Given the description of an element on the screen output the (x, y) to click on. 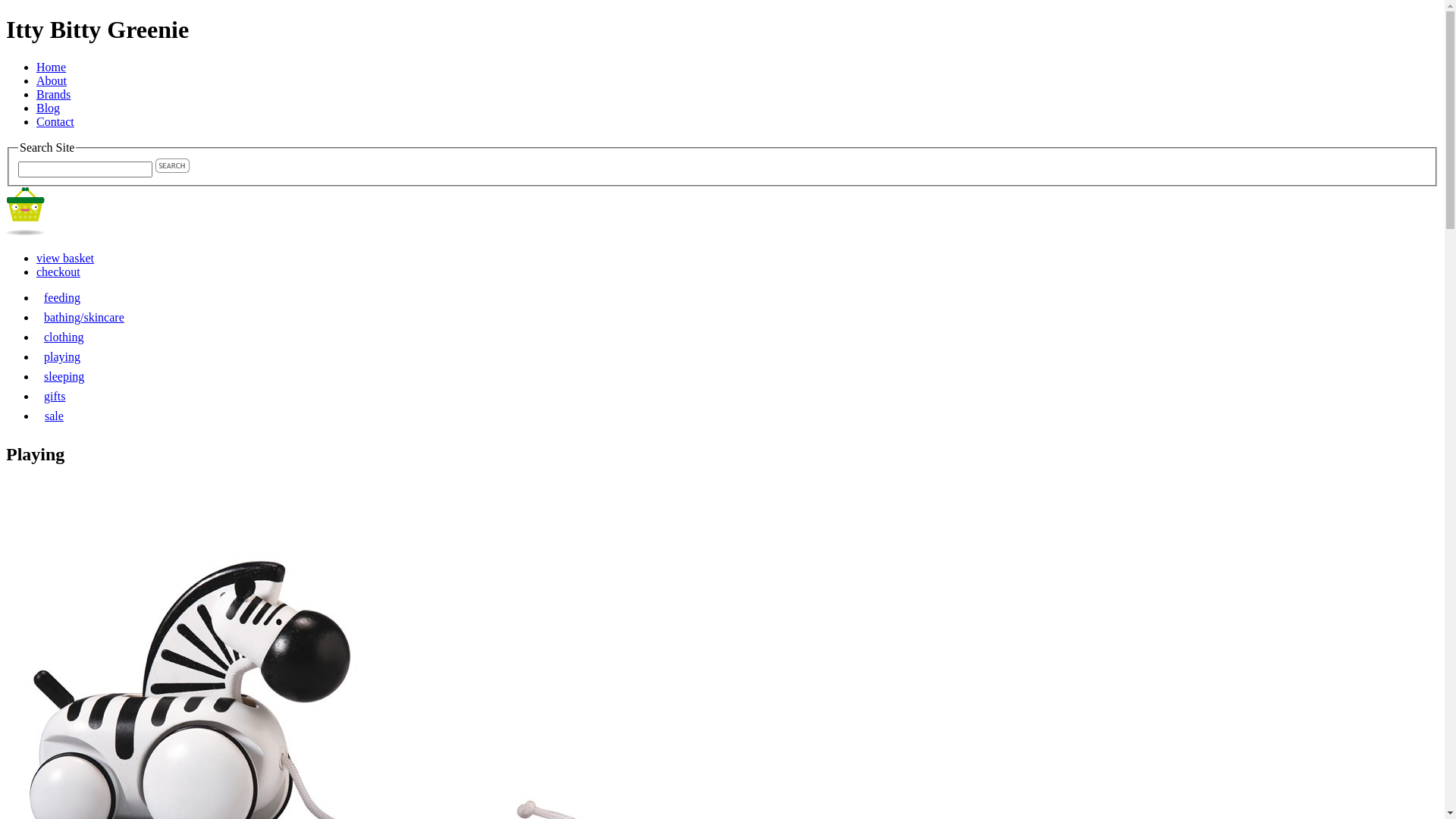
bathing/skincare Element type: text (83, 316)
playing Element type: text (61, 356)
Contact Element type: text (55, 121)
Home Element type: text (50, 66)
gifts Element type: text (54, 395)
Blog Element type: text (47, 107)
I'm empty! Element type: hover (25, 211)
Brands Element type: text (53, 93)
sale Element type: text (53, 415)
About Element type: text (51, 80)
sleeping Element type: text (63, 376)
clothing Element type: text (63, 336)
checkout Element type: text (58, 271)
feeding Element type: text (61, 297)
View Cart Element type: hover (25, 231)
view basket Element type: text (65, 257)
